Given the description of an element on the screen output the (x, y) to click on. 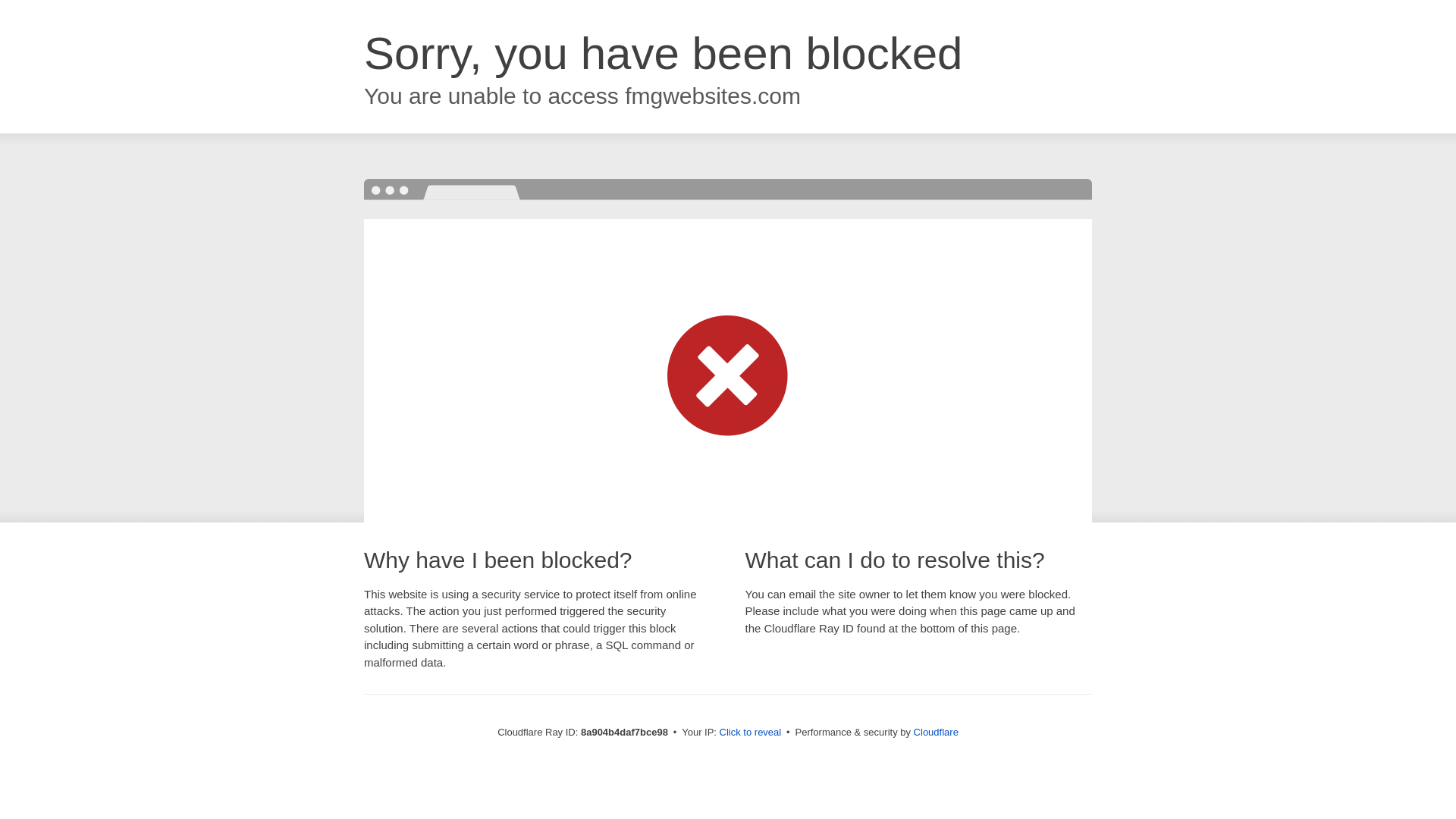
Cloudflare (936, 731)
Click to reveal (750, 732)
